Given the description of an element on the screen output the (x, y) to click on. 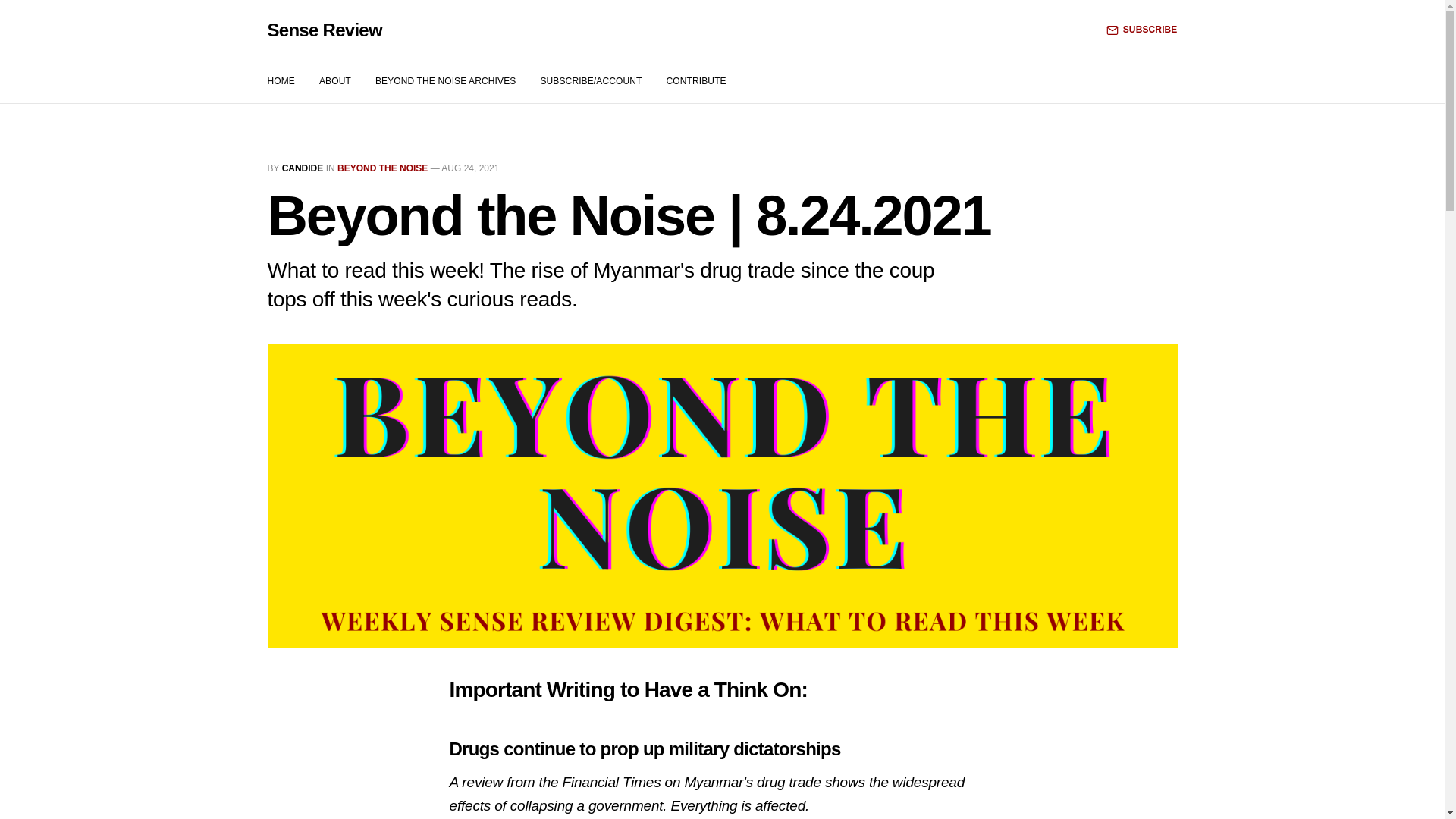
SUBSCRIBE (1141, 29)
Sense Review (323, 30)
CONTRIBUTE (695, 81)
CANDIDE (302, 167)
BEYOND THE NOISE (382, 167)
HOME (280, 81)
ABOUT (334, 81)
BEYOND THE NOISE ARCHIVES (445, 81)
